Given the description of an element on the screen output the (x, y) to click on. 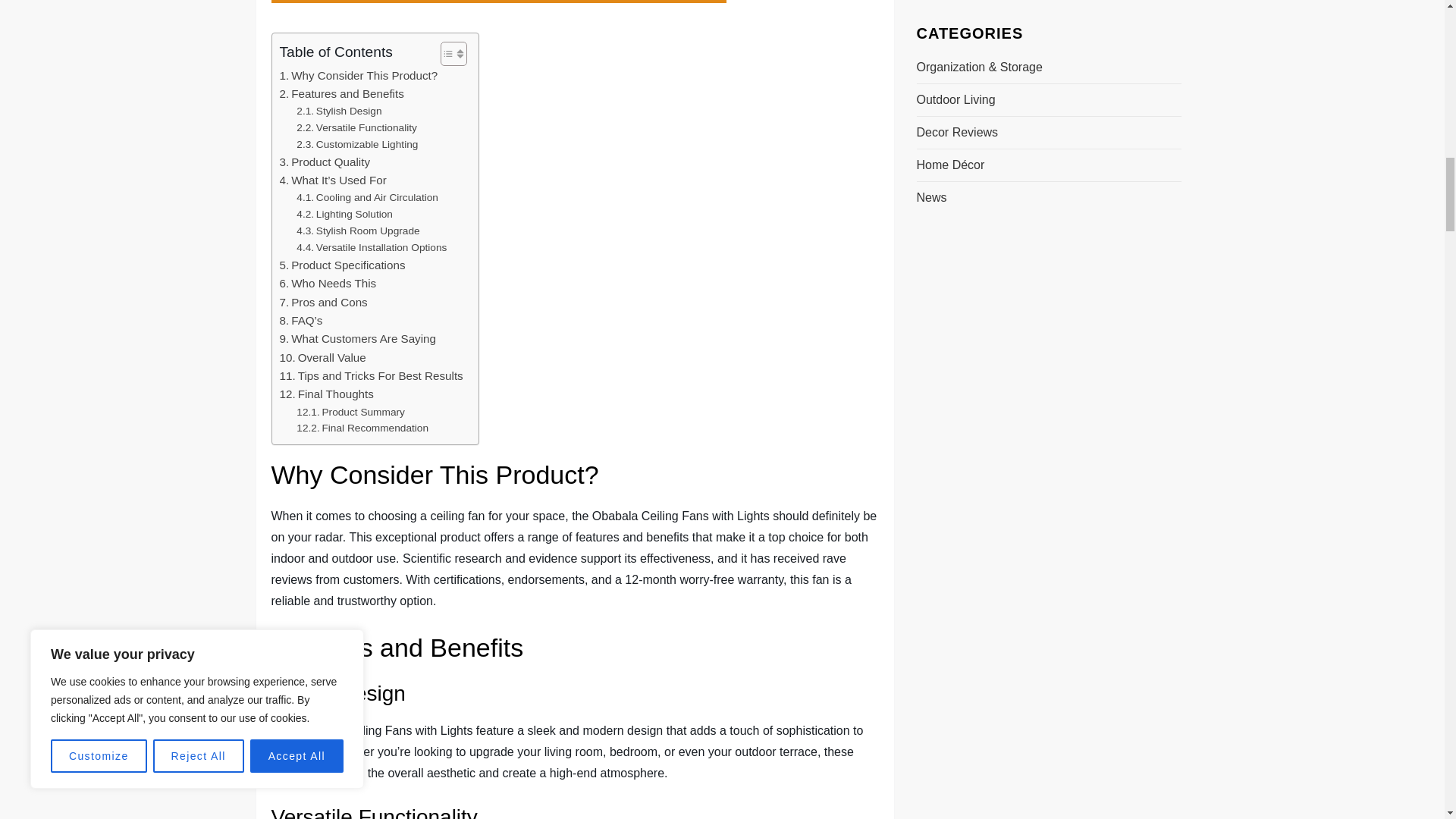
Cooling and Air Circulation (367, 197)
Pros and Cons (322, 302)
Lighting Solution (345, 214)
Cooling and Air Circulation (367, 197)
Features and Benefits (341, 94)
Product Specifications (341, 265)
Features and Benefits (341, 94)
Why Consider This Product? (358, 75)
Stylish Design (339, 111)
Customizable Lighting (357, 144)
